Given the description of an element on the screen output the (x, y) to click on. 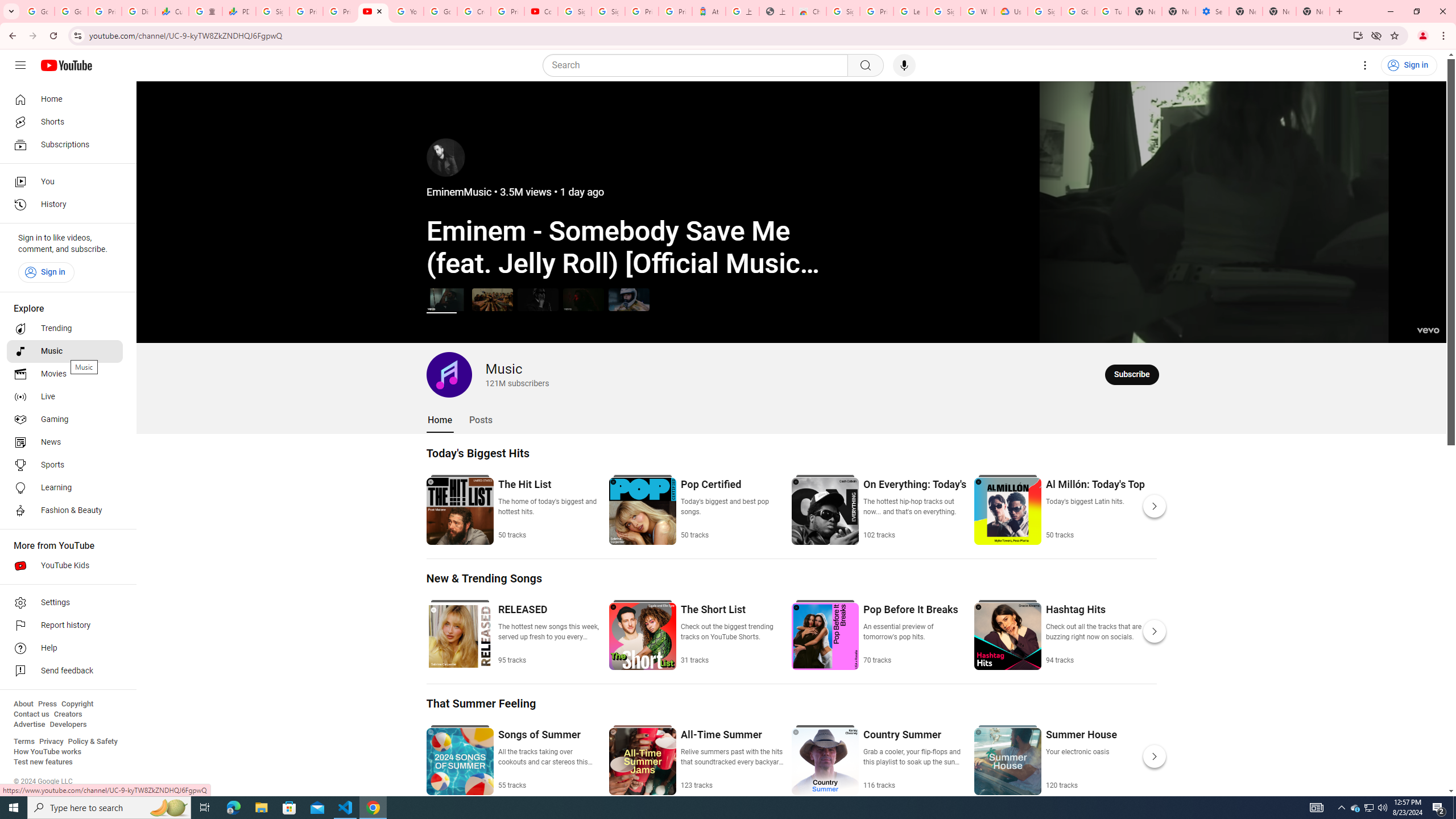
Hozier - Nobody's Soldier (Official Video) (583, 299)
Press (46, 703)
Home (440, 420)
Movies (64, 373)
Gaming (64, 419)
Sign in - Google Accounts (608, 11)
